Given the description of an element on the screen output the (x, y) to click on. 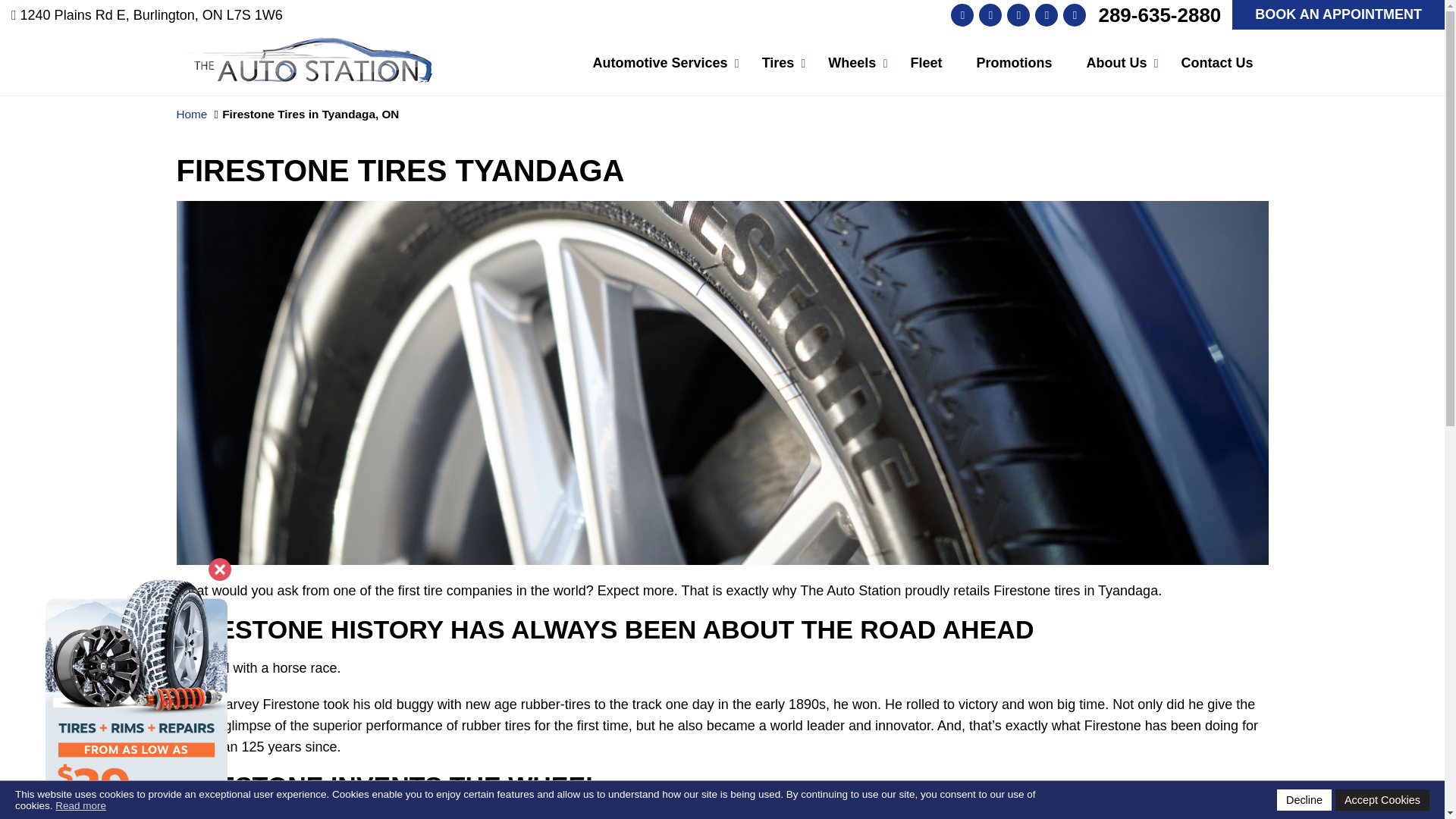
Go to The Auto Station. (191, 113)
Read more (80, 805)
289-635-2880 (1159, 14)
Tires (777, 62)
Automotive Services (660, 62)
Accept Cookies (1382, 799)
The Auto Station (304, 47)
Decline (1304, 799)
BOOK AN APPOINTMENT (1337, 14)
